Given the description of an element on the screen output the (x, y) to click on. 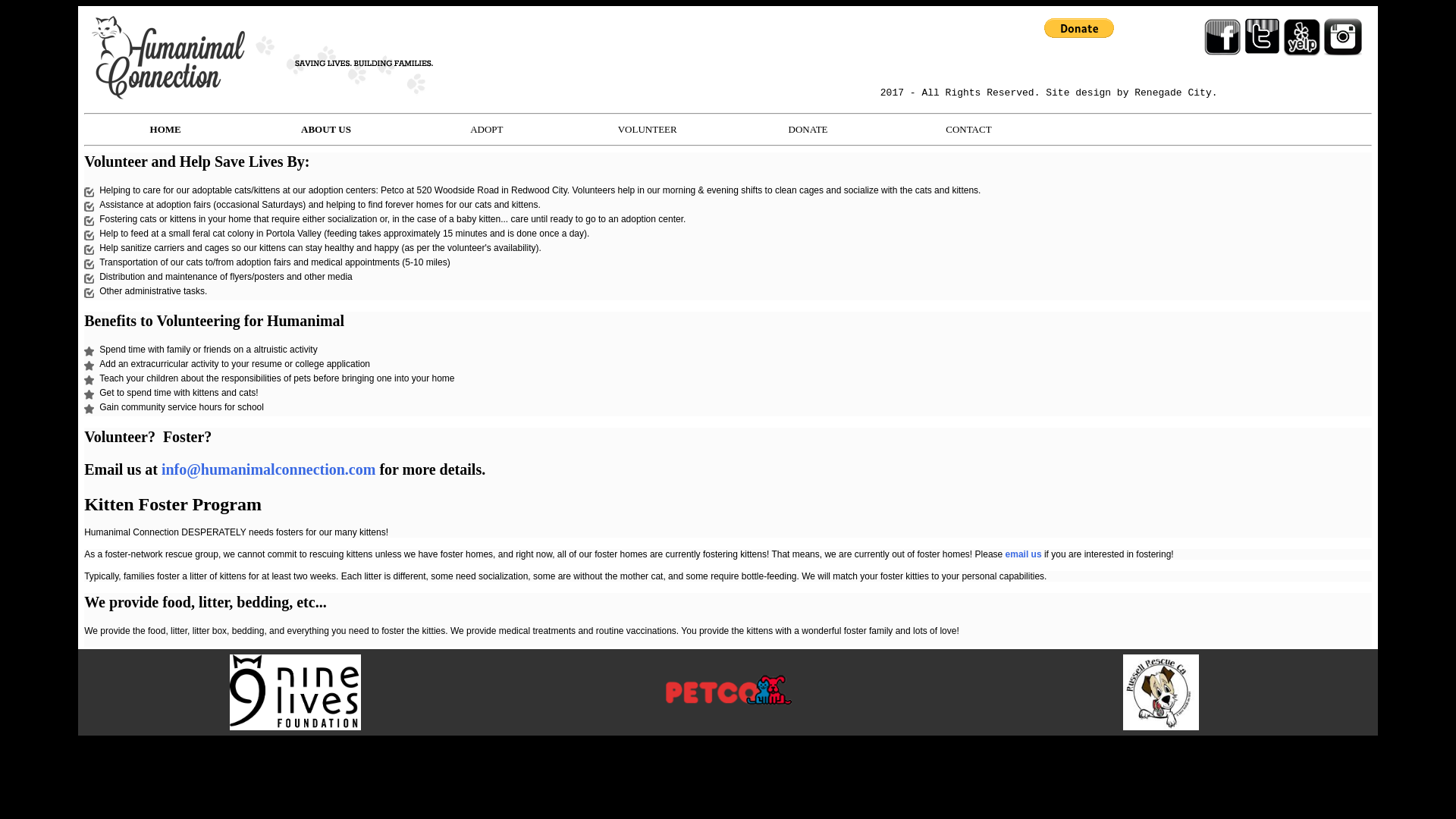
ABOUT US (325, 129)
VOLUNTEER (647, 129)
DONATE (808, 129)
email us (1024, 553)
Renegade City (1172, 92)
HOME (164, 129)
CONTACT (967, 129)
ADOPT (486, 129)
